Given the description of an element on the screen output the (x, y) to click on. 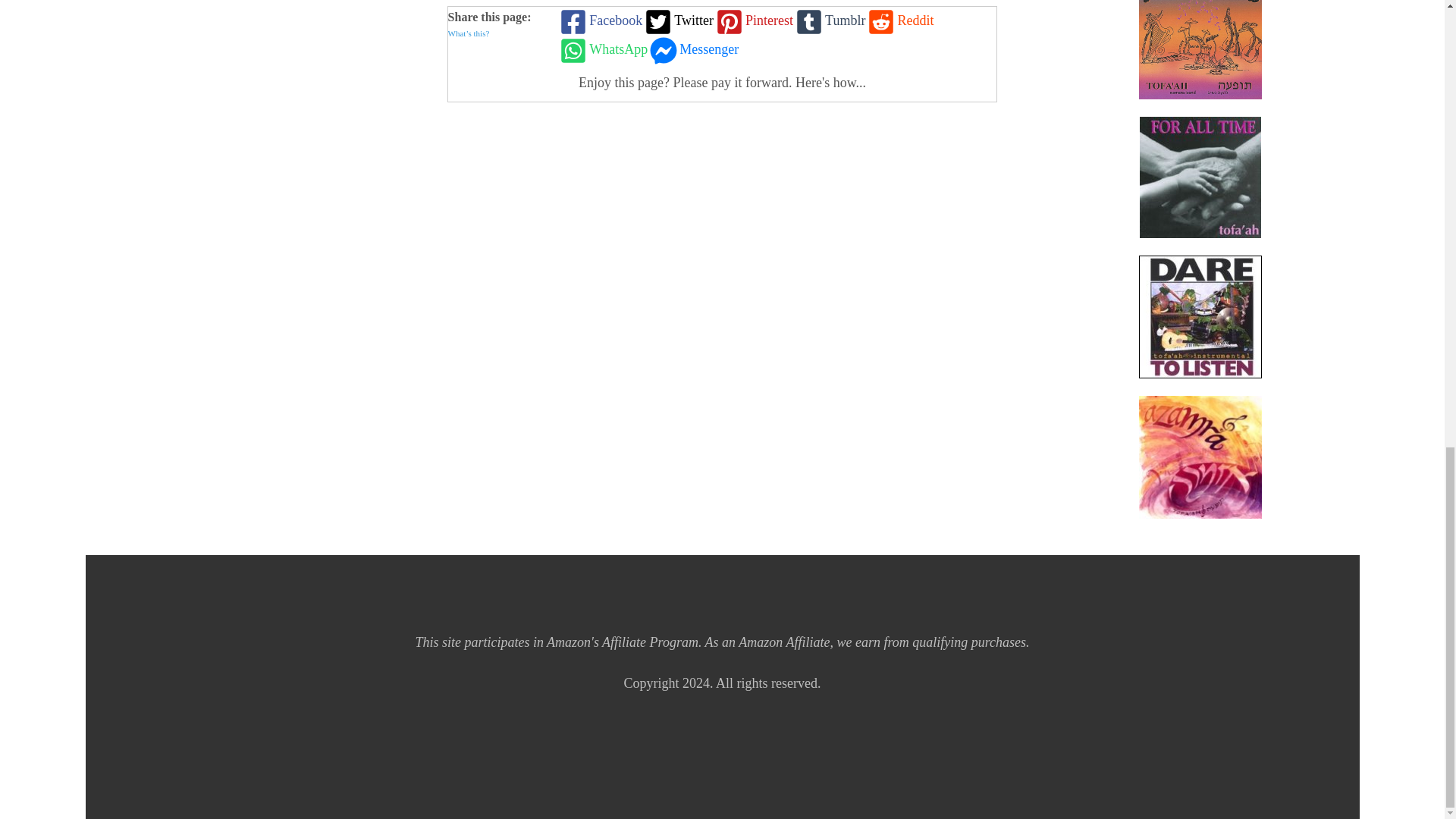
Twitter (677, 21)
For All Time (1199, 177)
WhatsApp (602, 50)
Facebook (599, 21)
Tumblr (828, 21)
Reddit (898, 21)
Messenger (692, 50)
Azamra (1200, 456)
besimcha-thumb (1200, 49)
Pinterest (753, 21)
